Given the description of an element on the screen output the (x, y) to click on. 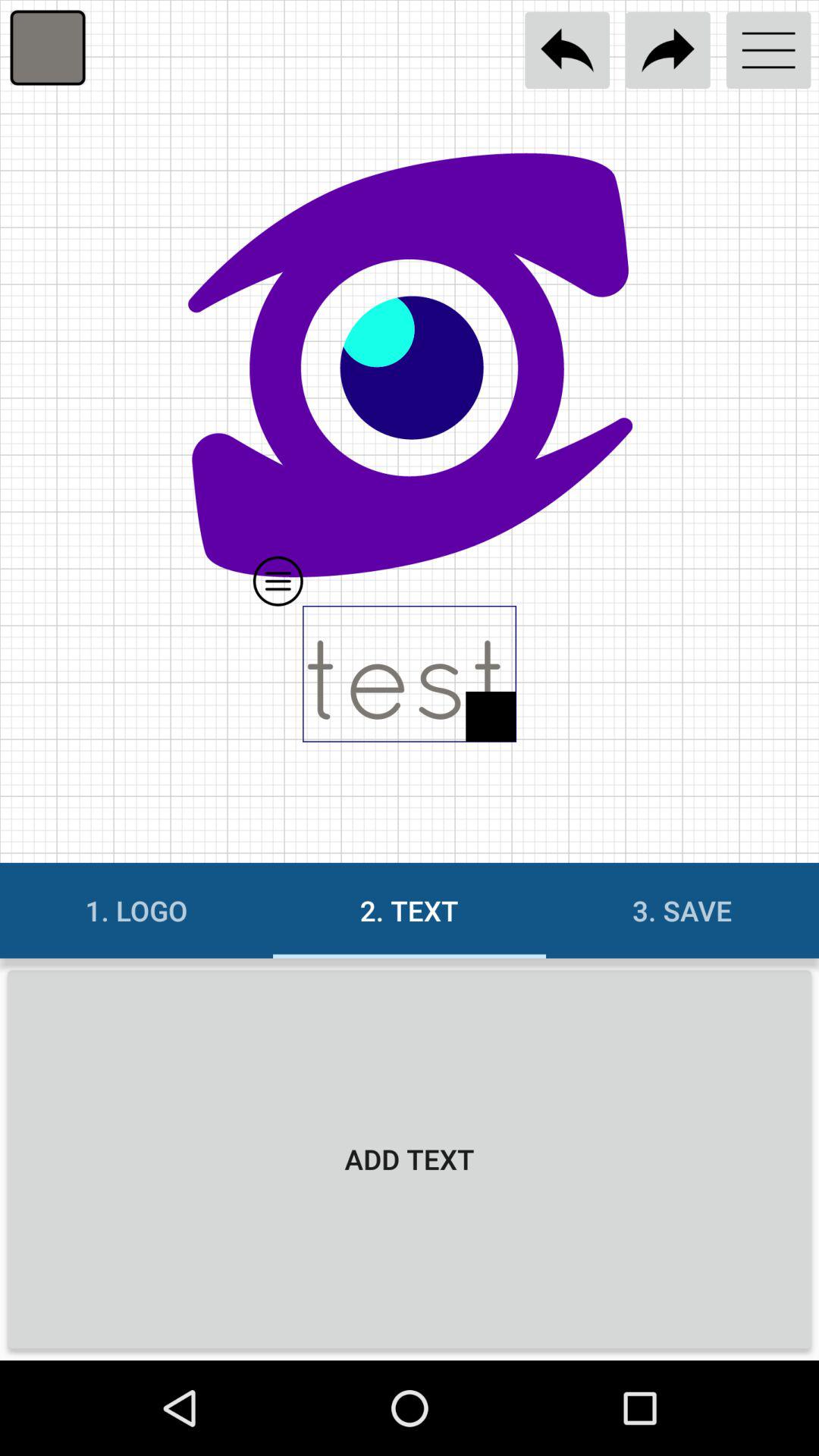
go forward (667, 50)
